Given the description of an element on the screen output the (x, y) to click on. 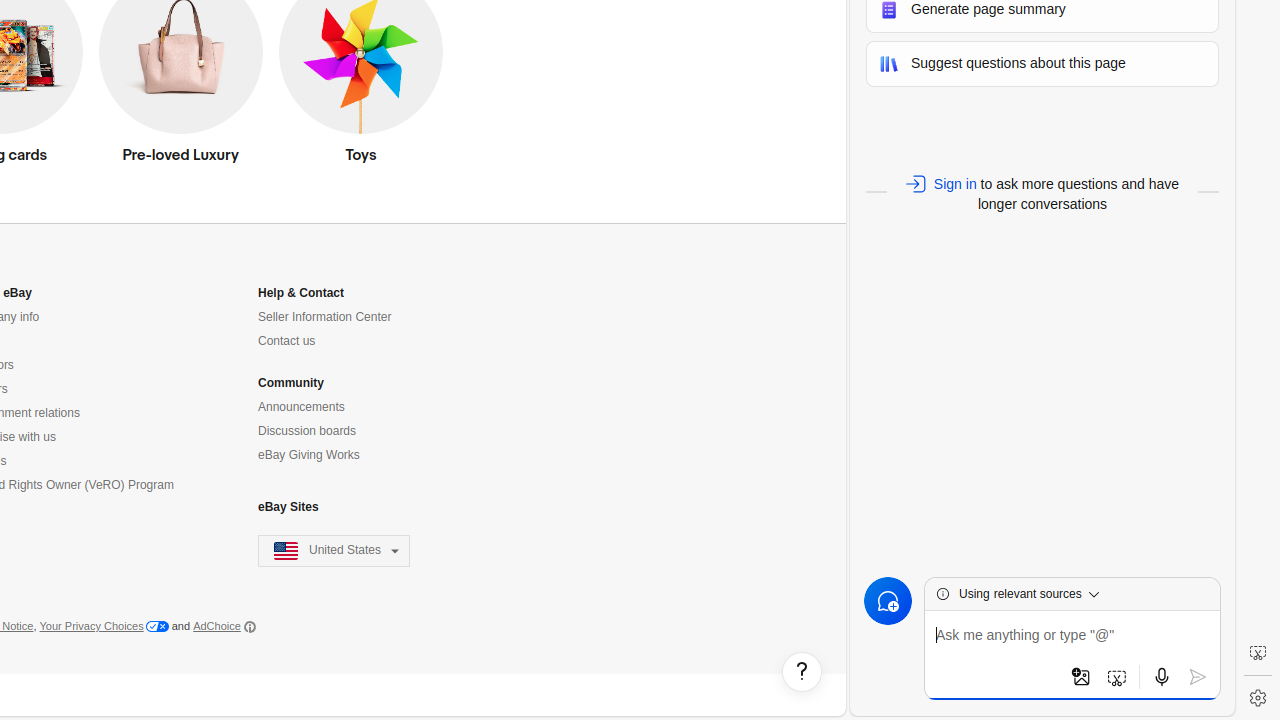
New topic Element type: push-button (888, 601)
Add an image to search Element type: push-button (1081, 677)
Using information from Relevant sources to answer. Select to change source Element type: push-button (1034, 594)
Contact us Element type: link (287, 341)
Seller Information Center Element type: link (325, 317)
